Given the description of an element on the screen output the (x, y) to click on. 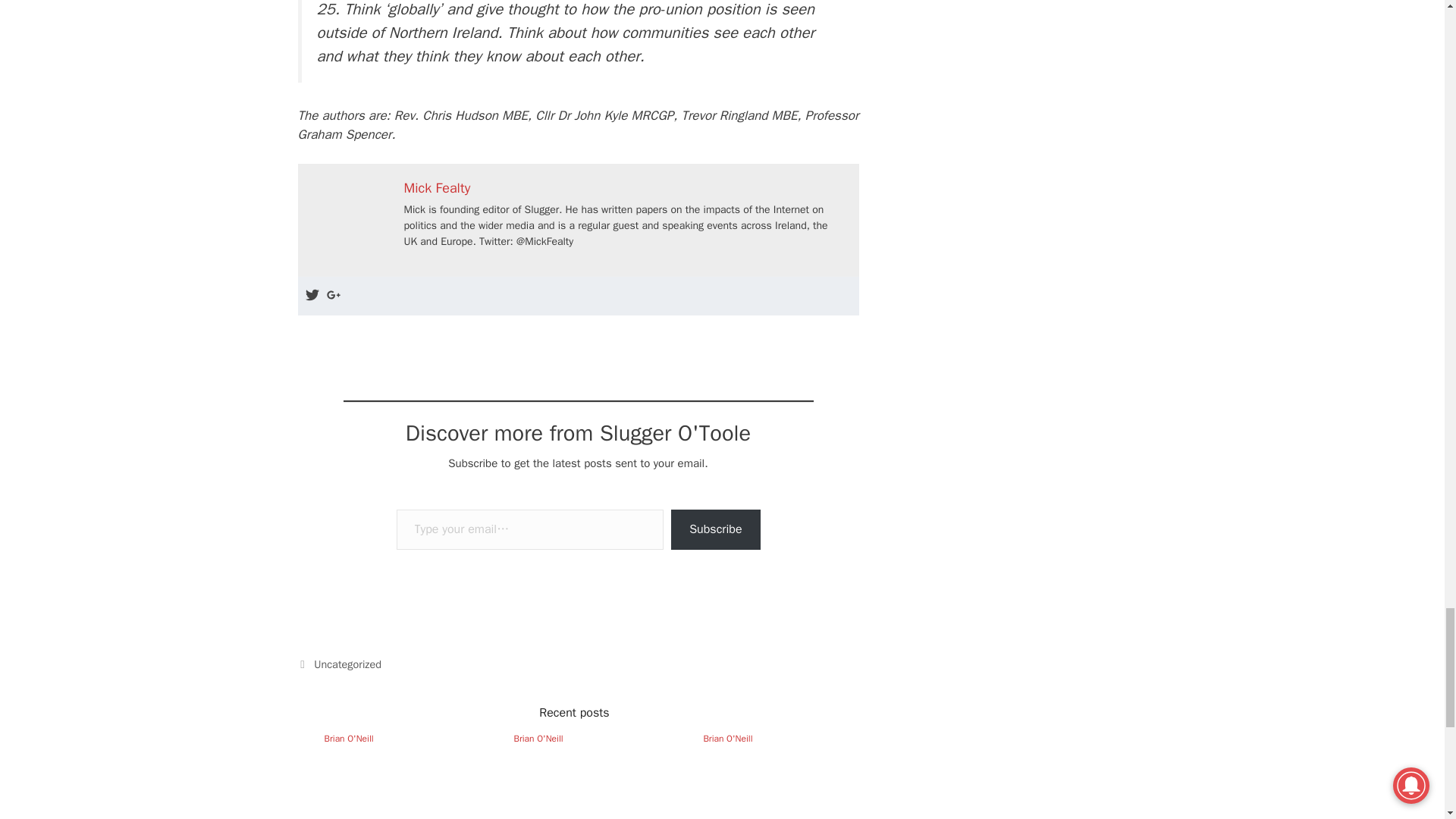
Page 6 (578, 72)
Please fill in this field. (529, 529)
